Given the description of an element on the screen output the (x, y) to click on. 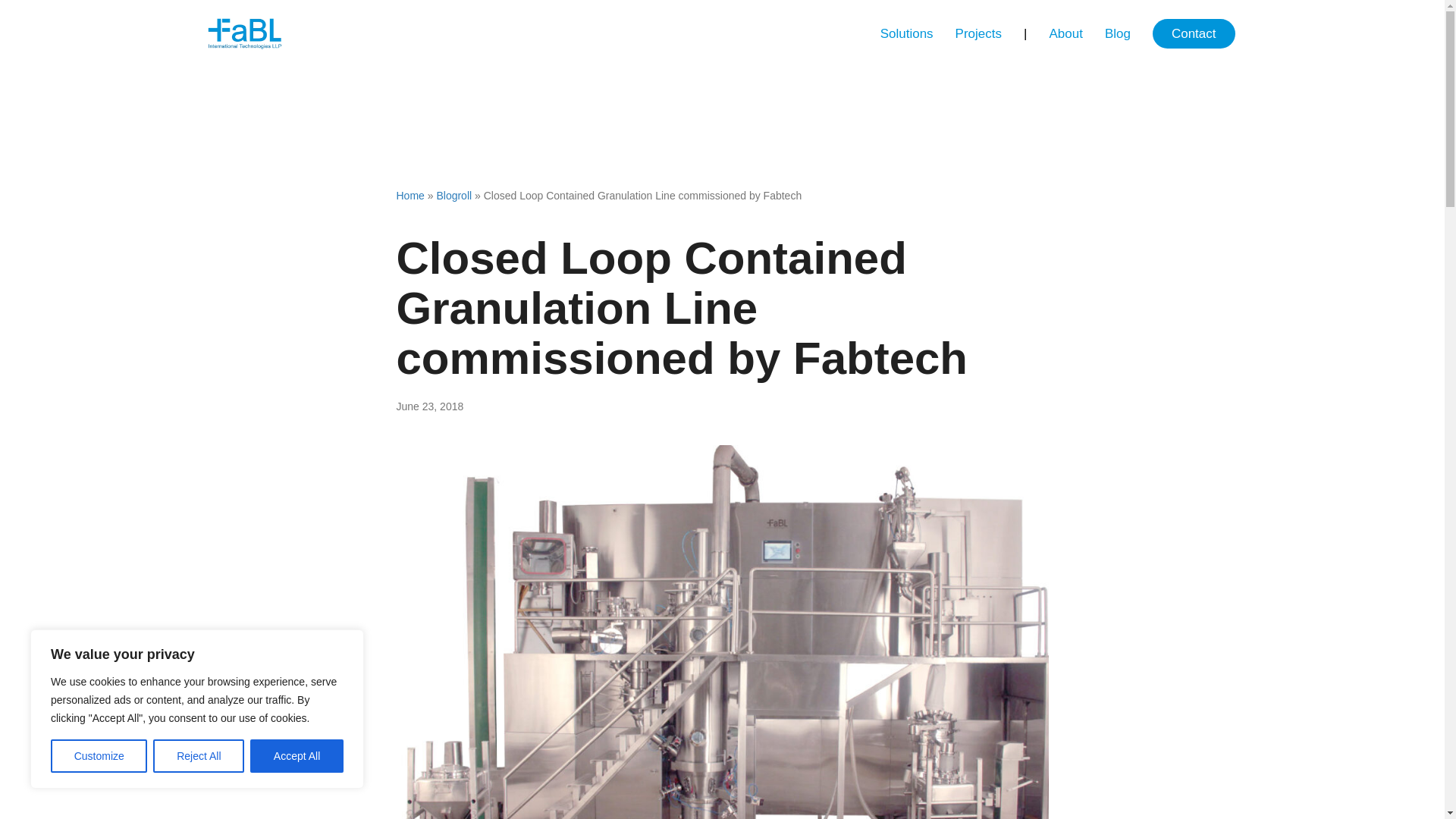
Reject All (198, 756)
Accept All (296, 756)
Projects (977, 33)
fabl (244, 33)
Solutions (906, 33)
Customize (98, 756)
